Given the description of an element on the screen output the (x, y) to click on. 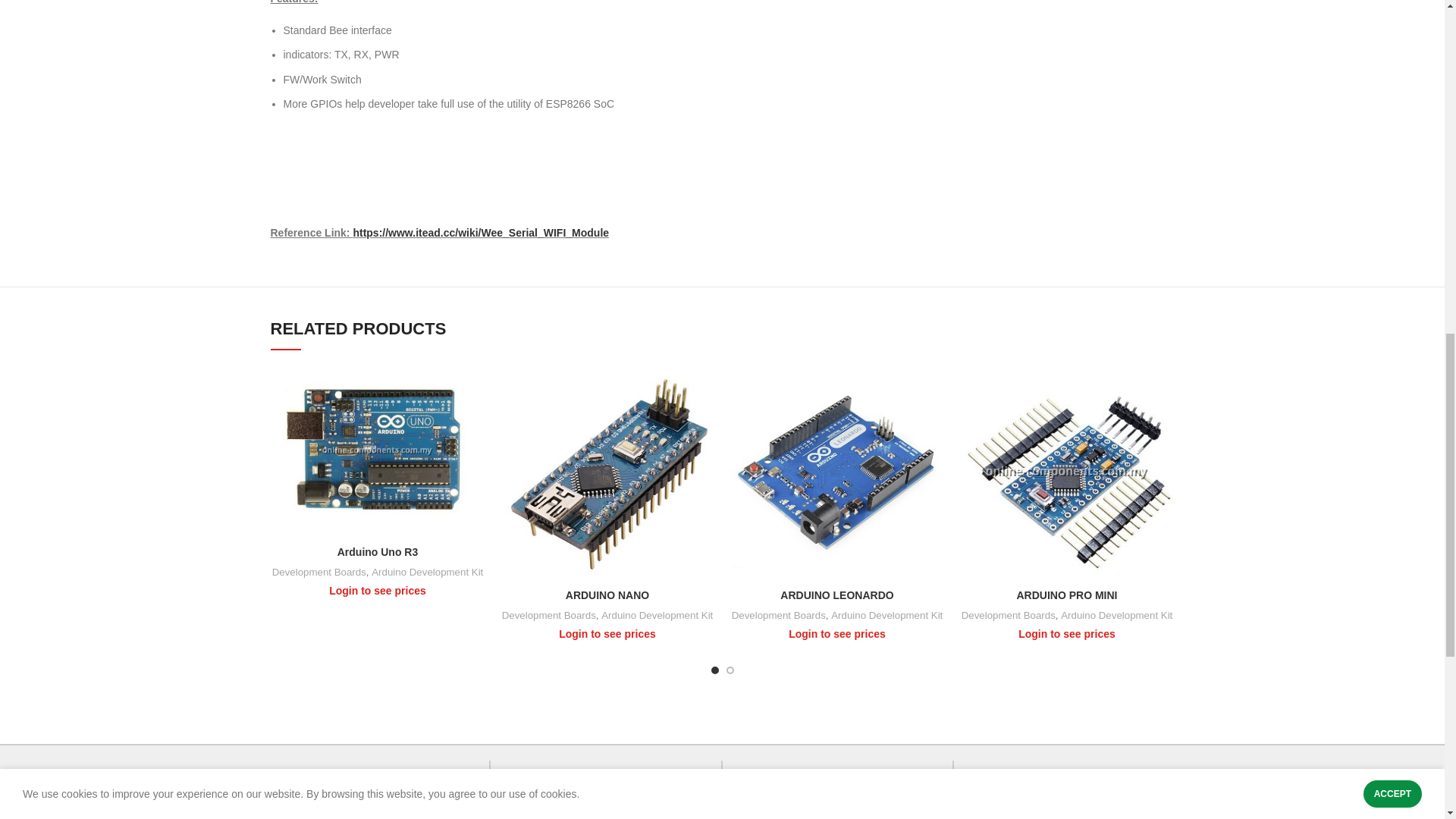
oc-qp (521, 790)
oc-fs (288, 790)
oc-cs (984, 790)
oc-sp (752, 790)
